Given the description of an element on the screen output the (x, y) to click on. 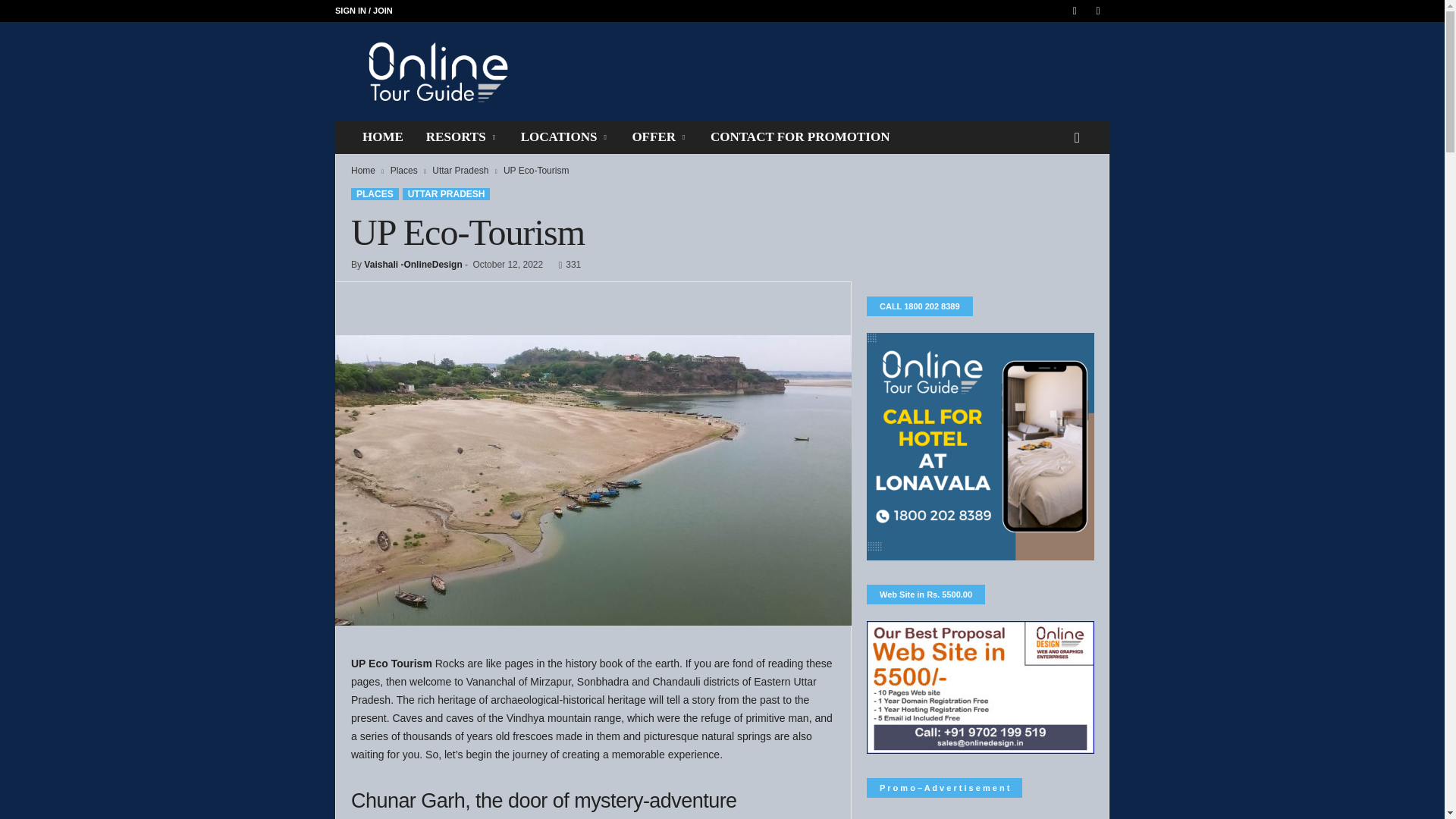
LOCATIONS (565, 136)
Online Tour Guide (437, 70)
Places (403, 170)
Uttar Pradesh (459, 170)
View all posts in Uttar Pradesh (459, 170)
CONTACT FOR PROMOTION (799, 136)
View all posts in Places (403, 170)
RESORTS (461, 136)
Vaishali -OnlineDesign (412, 264)
